Given the description of an element on the screen output the (x, y) to click on. 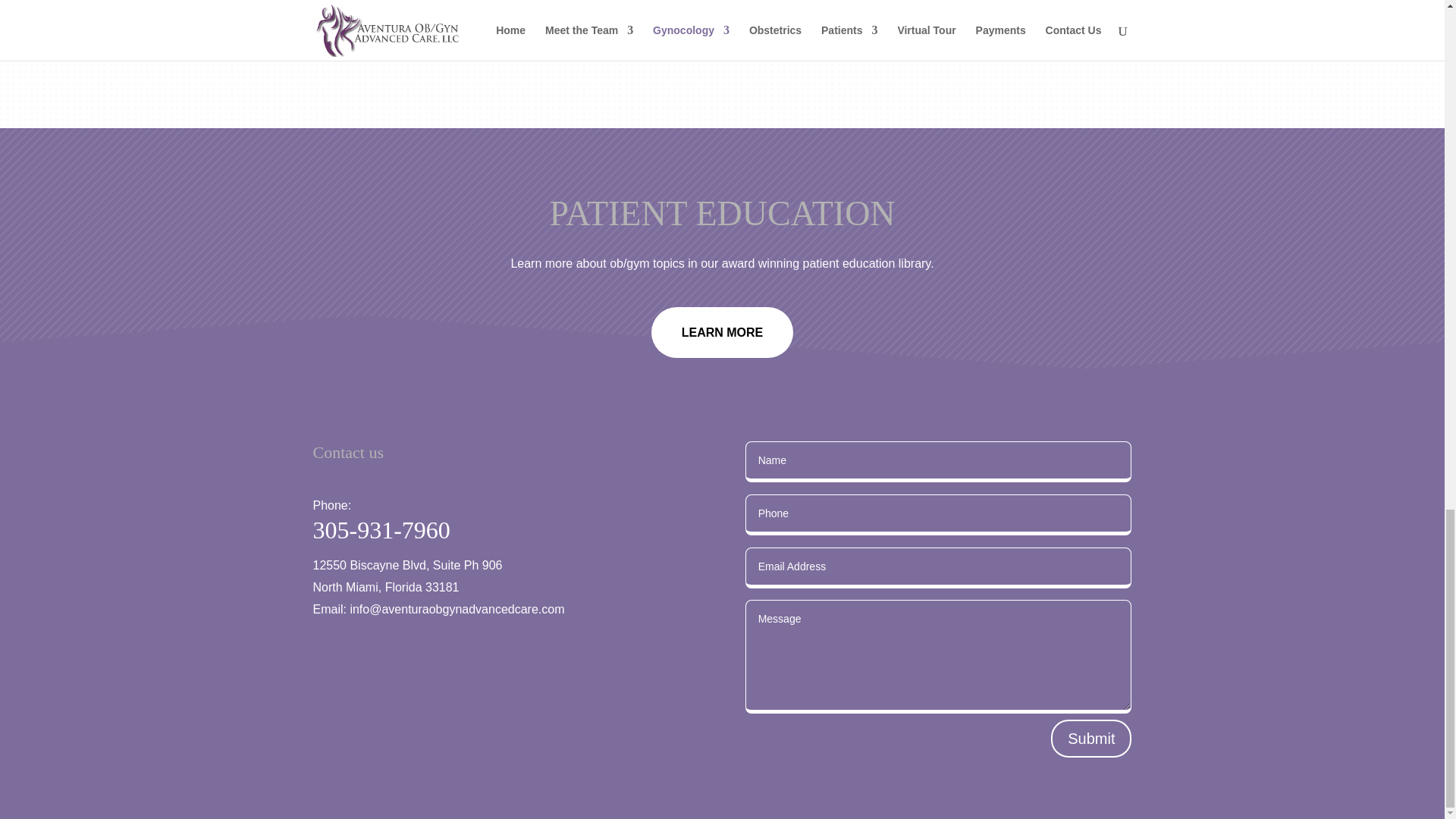
Only numbers allowed. (938, 514)
Submit (1091, 738)
LEARN MORE (721, 332)
